Given the description of an element on the screen output the (x, y) to click on. 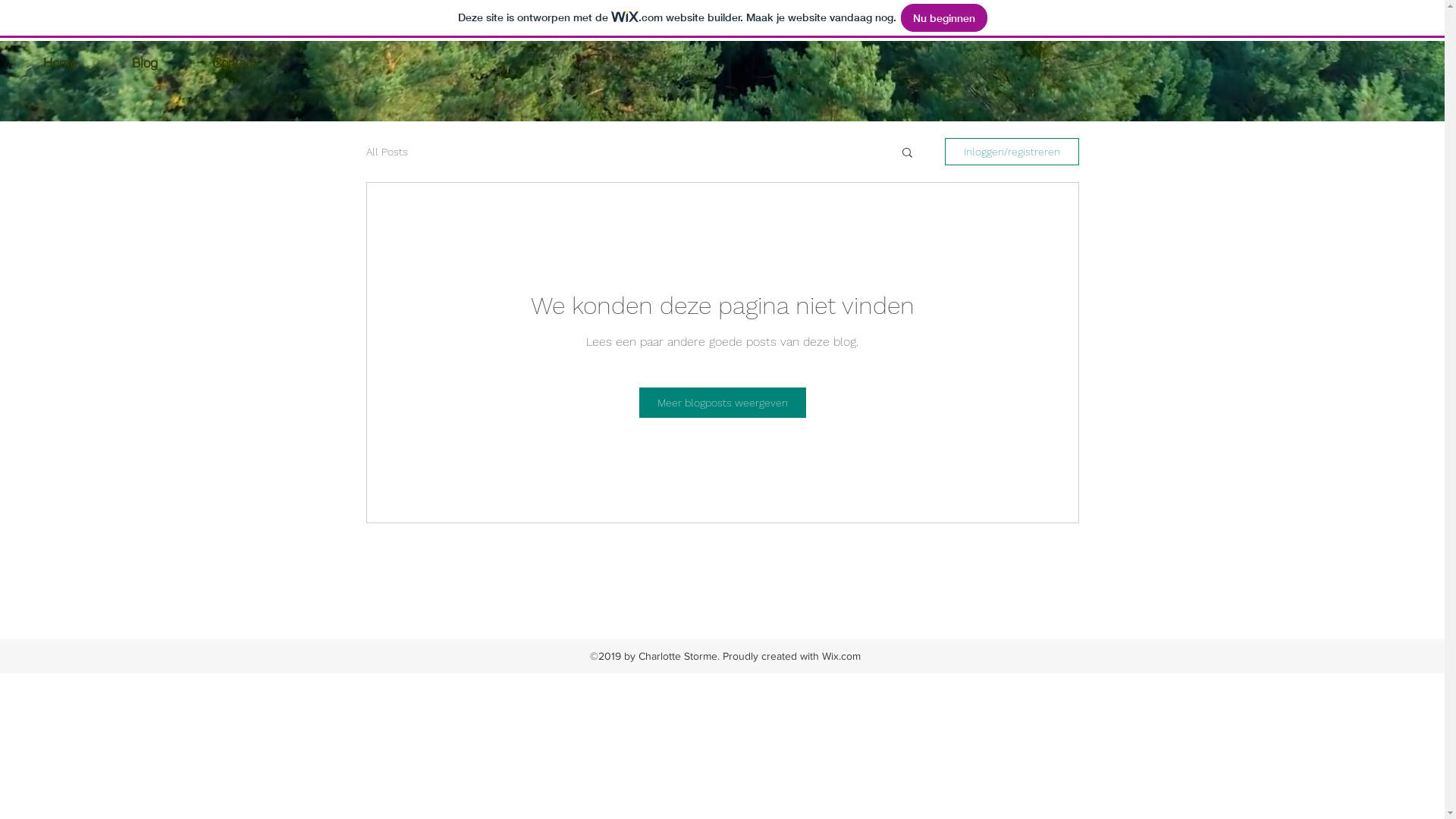
Blog Element type: text (144, 62)
All Posts Element type: text (386, 151)
Meer blogposts weergeven Element type: text (721, 402)
Inloggen/registreren Element type: text (1011, 151)
Contact Element type: text (234, 62)
Home Element type: text (59, 62)
